Given the description of an element on the screen output the (x, y) to click on. 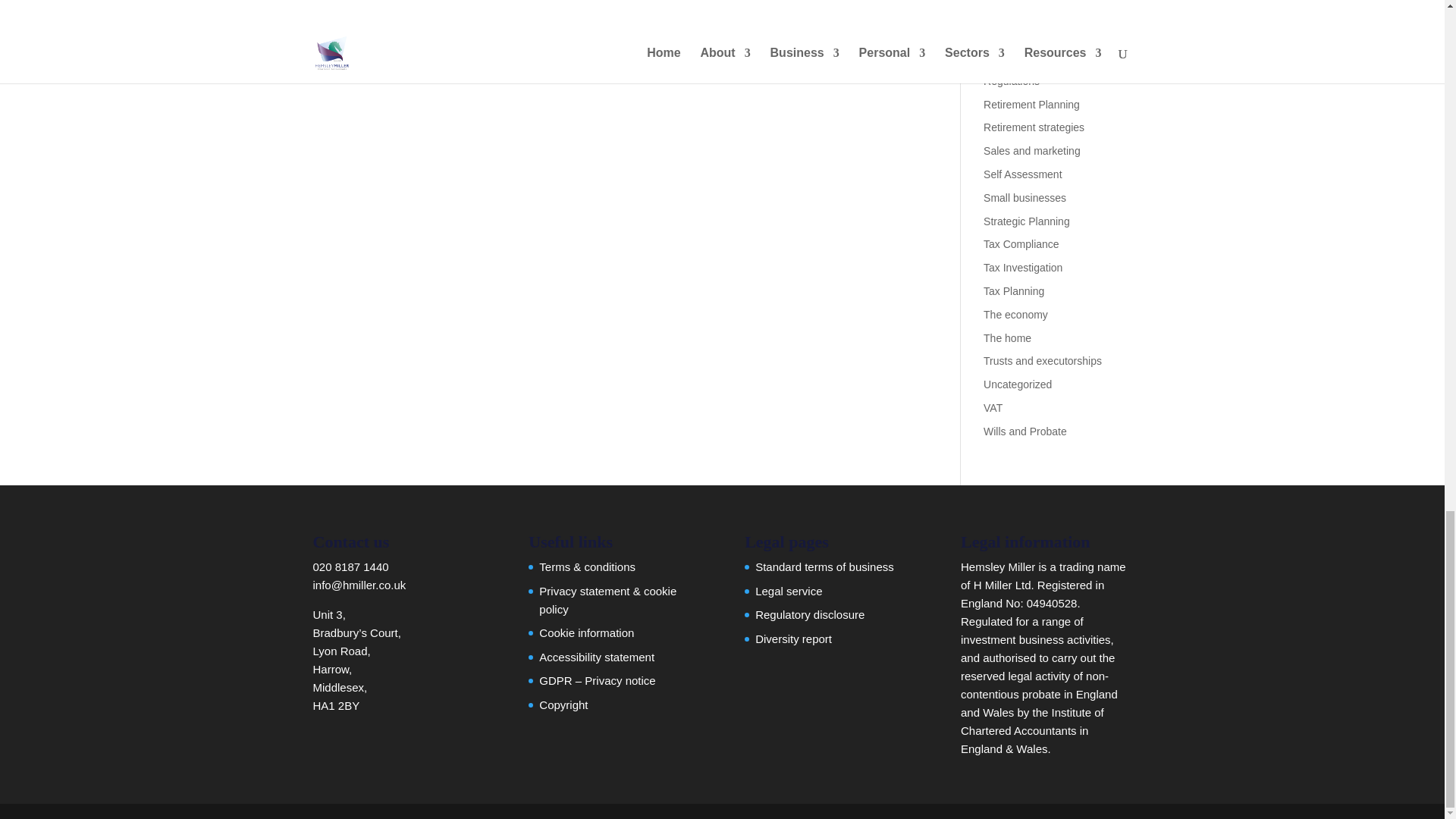
Email Hemsley Miller (359, 584)
